Given the description of an element on the screen output the (x, y) to click on. 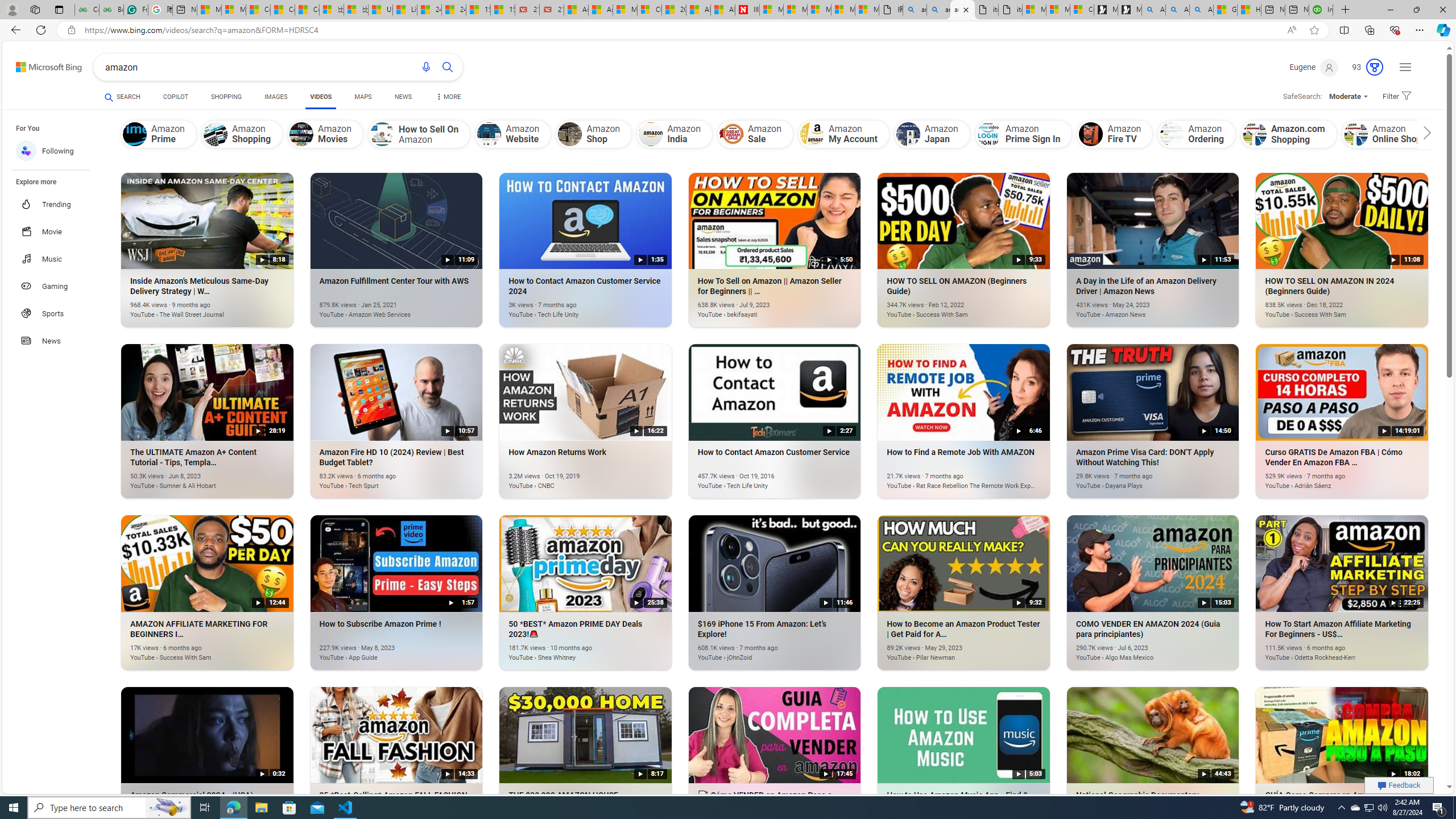
amazon - Search (914, 9)
Amazon Online Shopping (1355, 133)
MORE (447, 98)
Amazon Website (513, 134)
Settings and quick links (1404, 67)
Amazon.com Shopping (1253, 133)
SHOPPING (226, 98)
MAPS (363, 98)
Amazon Prime Sign In (1023, 134)
